Given the description of an element on the screen output the (x, y) to click on. 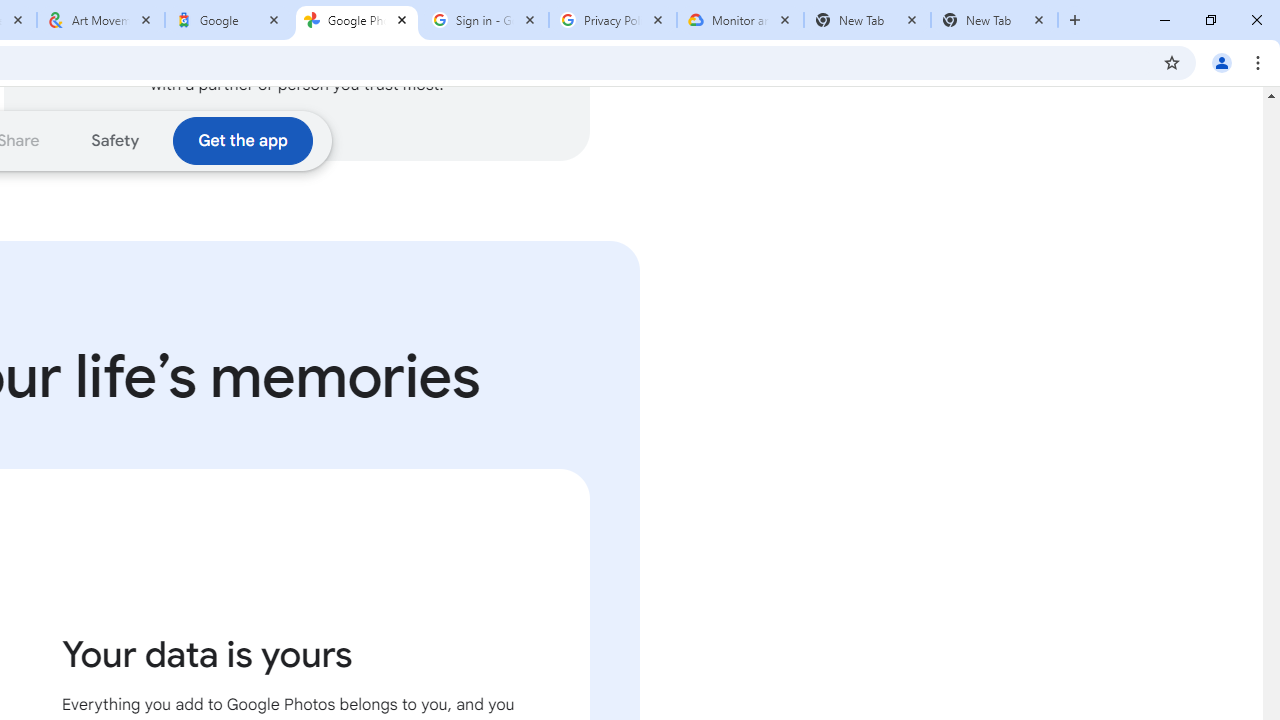
Go to section: Safety (115, 140)
New Tab (866, 20)
Google (229, 20)
New Tab (994, 20)
